Given the description of an element on the screen output the (x, y) to click on. 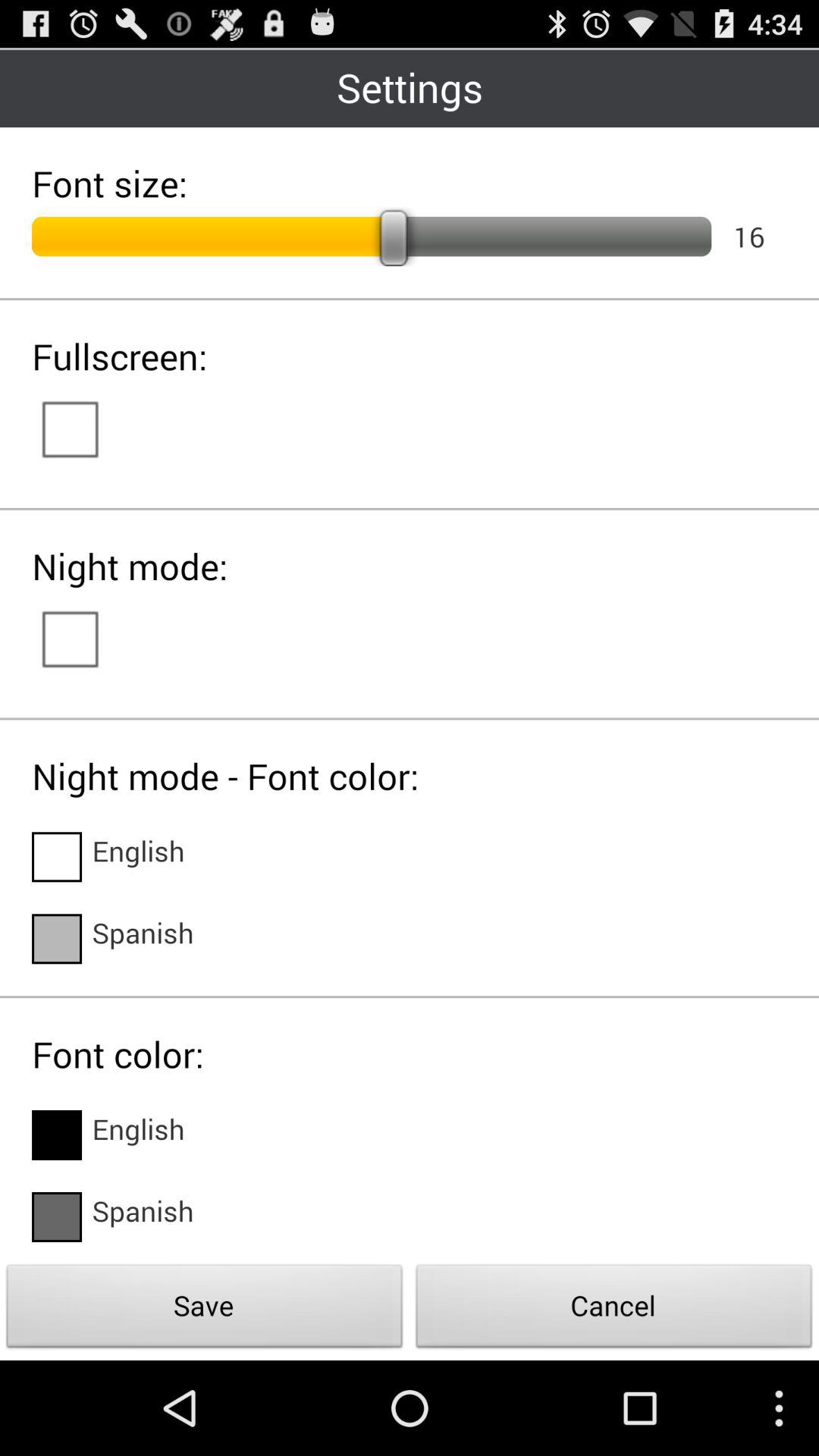
choose the cancel (614, 1310)
